Given the description of an element on the screen output the (x, y) to click on. 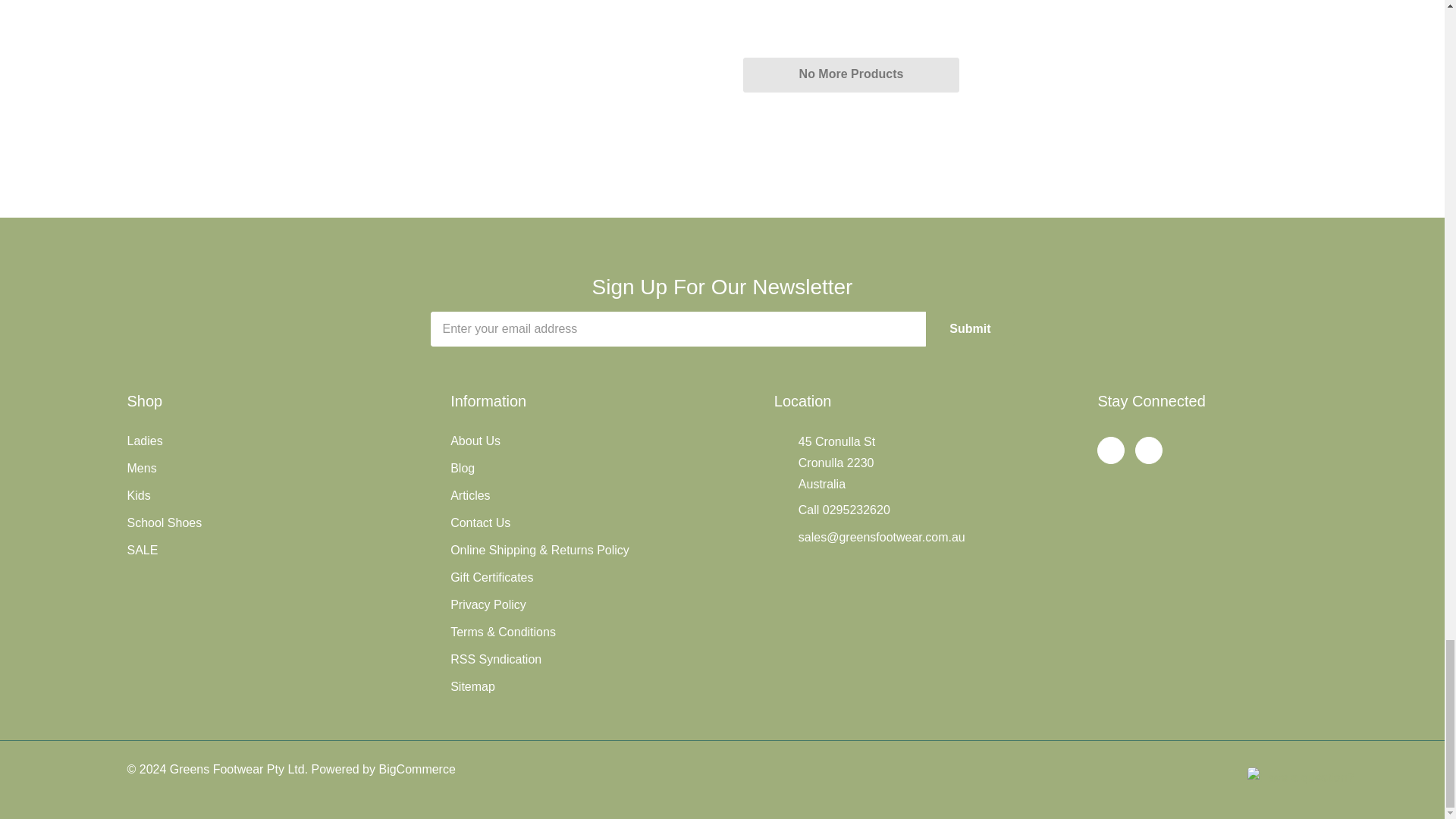
Submit (969, 329)
